Given the description of an element on the screen output the (x, y) to click on. 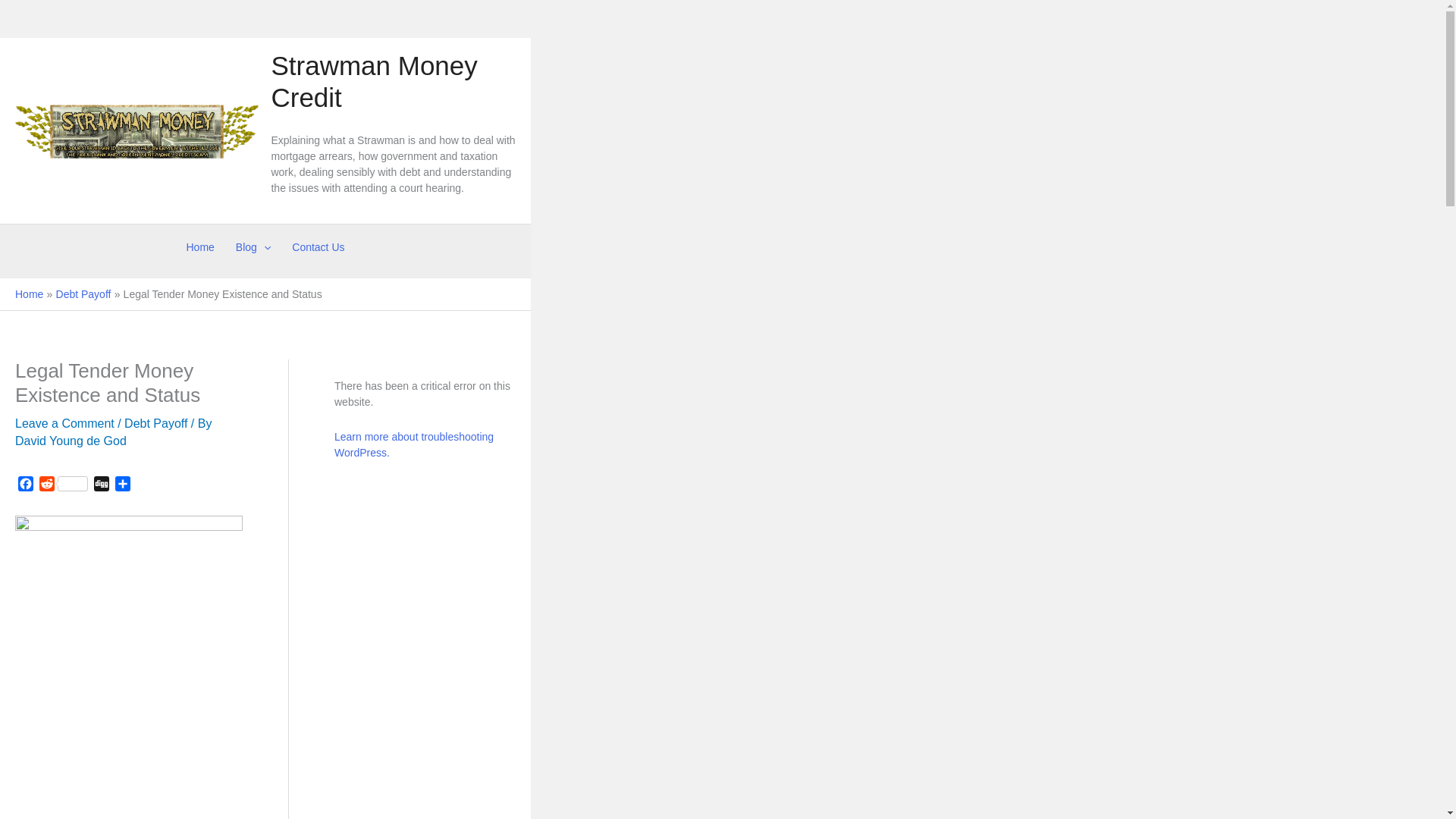
Digg (101, 485)
Home (28, 294)
Strawman Money Credit (373, 81)
Contact Us (318, 247)
Debt Payoff (84, 294)
Debt Payoff (155, 422)
Facebook (25, 485)
Home (199, 247)
Reddit (63, 485)
Facebook (25, 485)
